Given the description of an element on the screen output the (x, y) to click on. 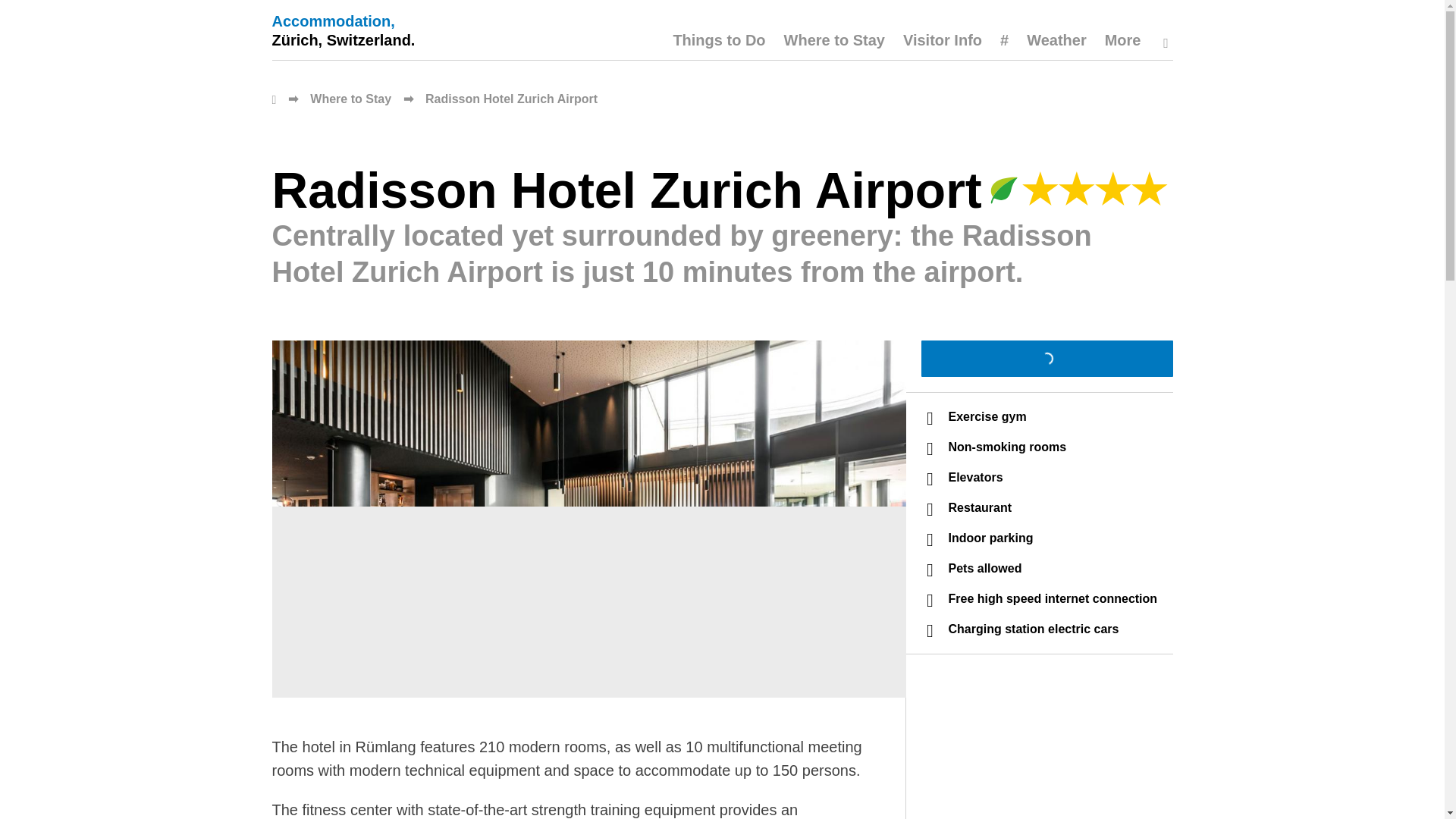
Things to Do (718, 45)
Accommodation, (342, 22)
